Given the description of an element on the screen output the (x, y) to click on. 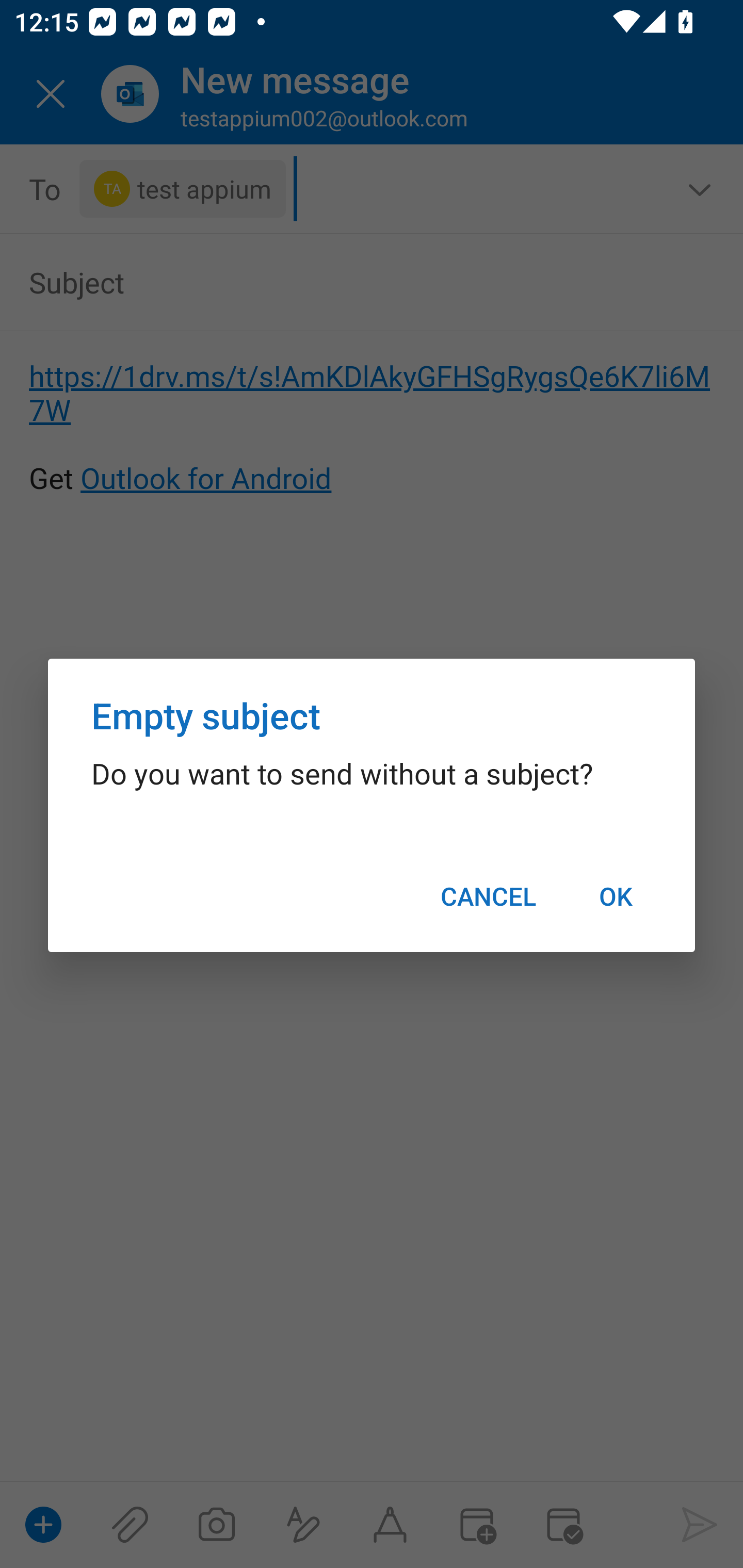
CANCEL (488, 895)
OK (615, 895)
